Given the description of an element on the screen output the (x, y) to click on. 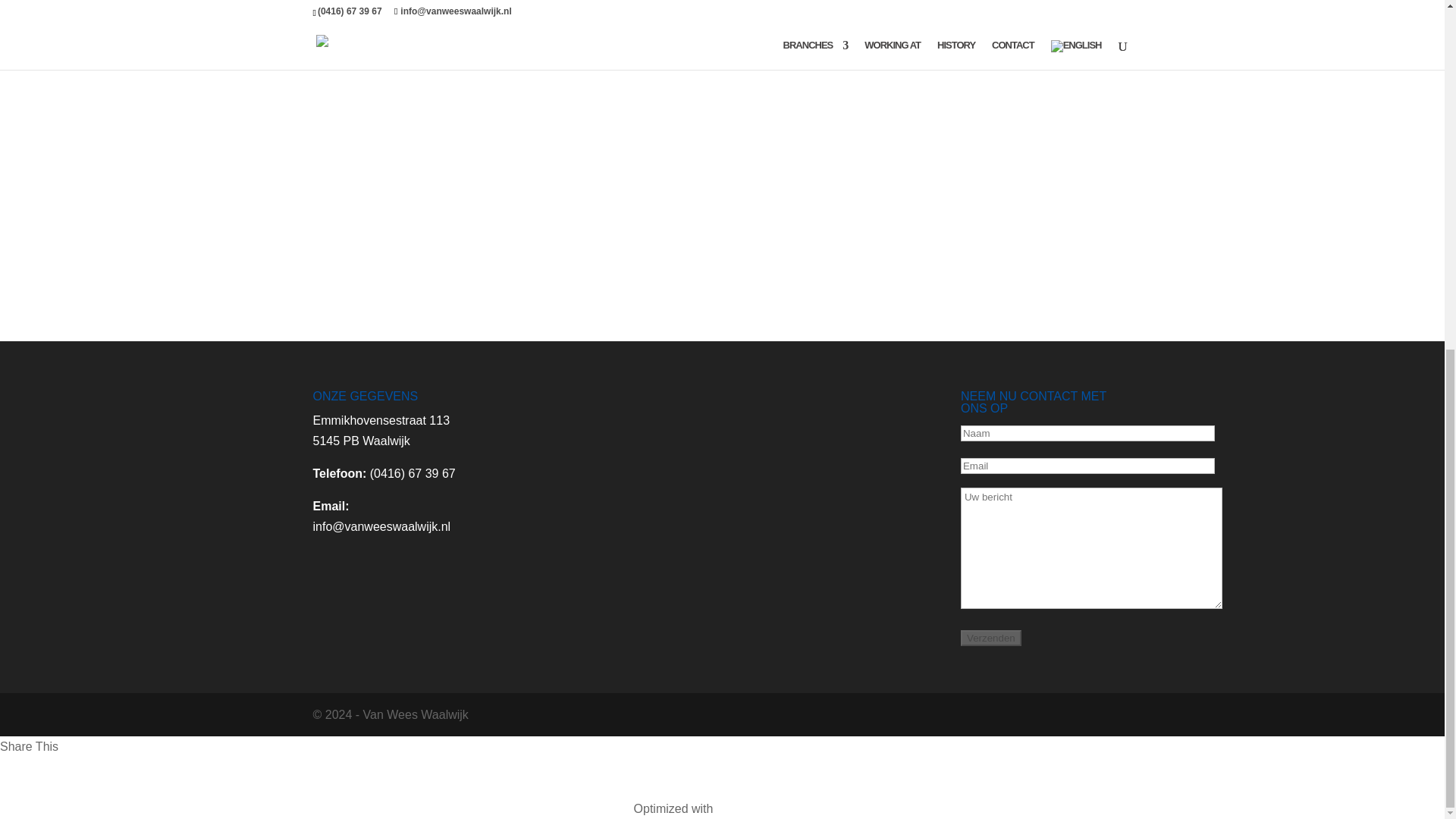
PageSpeed Ninja (763, 807)
Verzenden (991, 637)
Verzenden (991, 637)
recairverhuizing1 (578, 275)
